Given the description of an element on the screen output the (x, y) to click on. 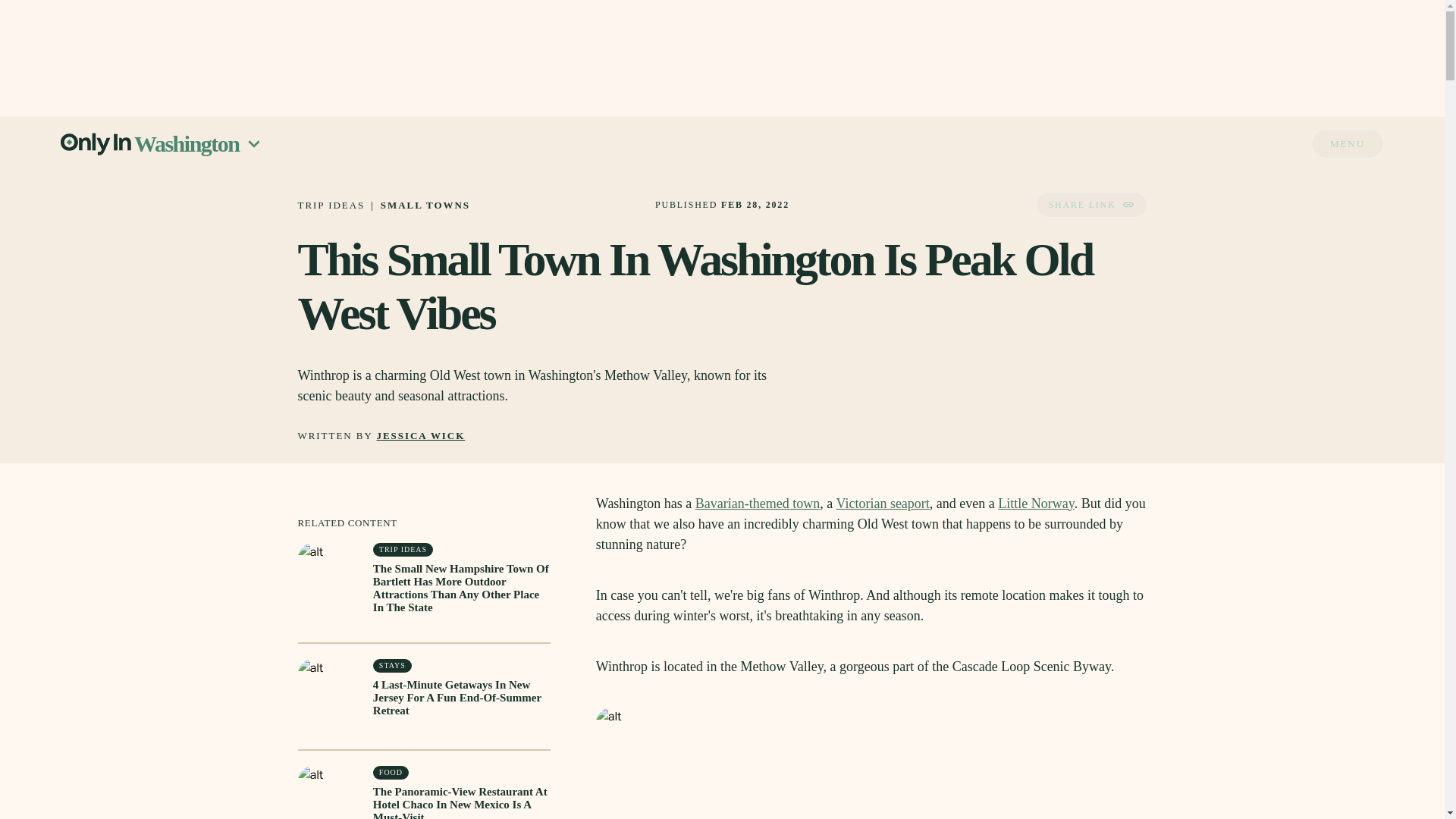
MENU (1347, 143)
TRIP IDEAS (331, 204)
Little Norway (1035, 503)
Victorian seaport (881, 503)
Bavarian-themed town (757, 503)
SHARE LINK (1091, 204)
SMALL TOWNS (425, 204)
JESSICA WICK (421, 436)
